Given the description of an element on the screen output the (x, y) to click on. 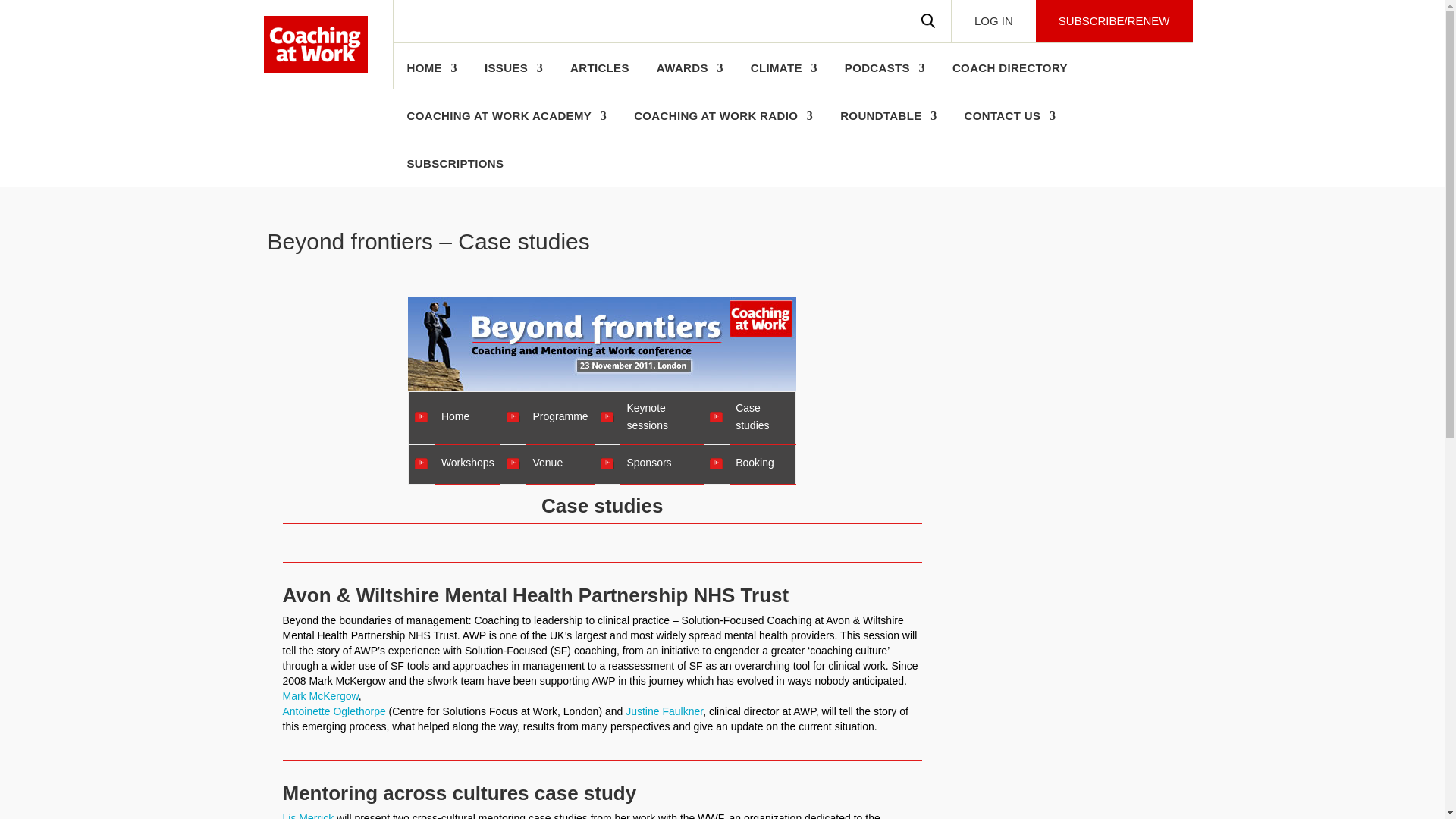
ARTICLES (599, 76)
CLIMATE (783, 76)
ISSUES (513, 76)
LOG IN (992, 21)
AWARDS (689, 76)
SEARCH (927, 21)
HOME (431, 76)
